Given the description of an element on the screen output the (x, y) to click on. 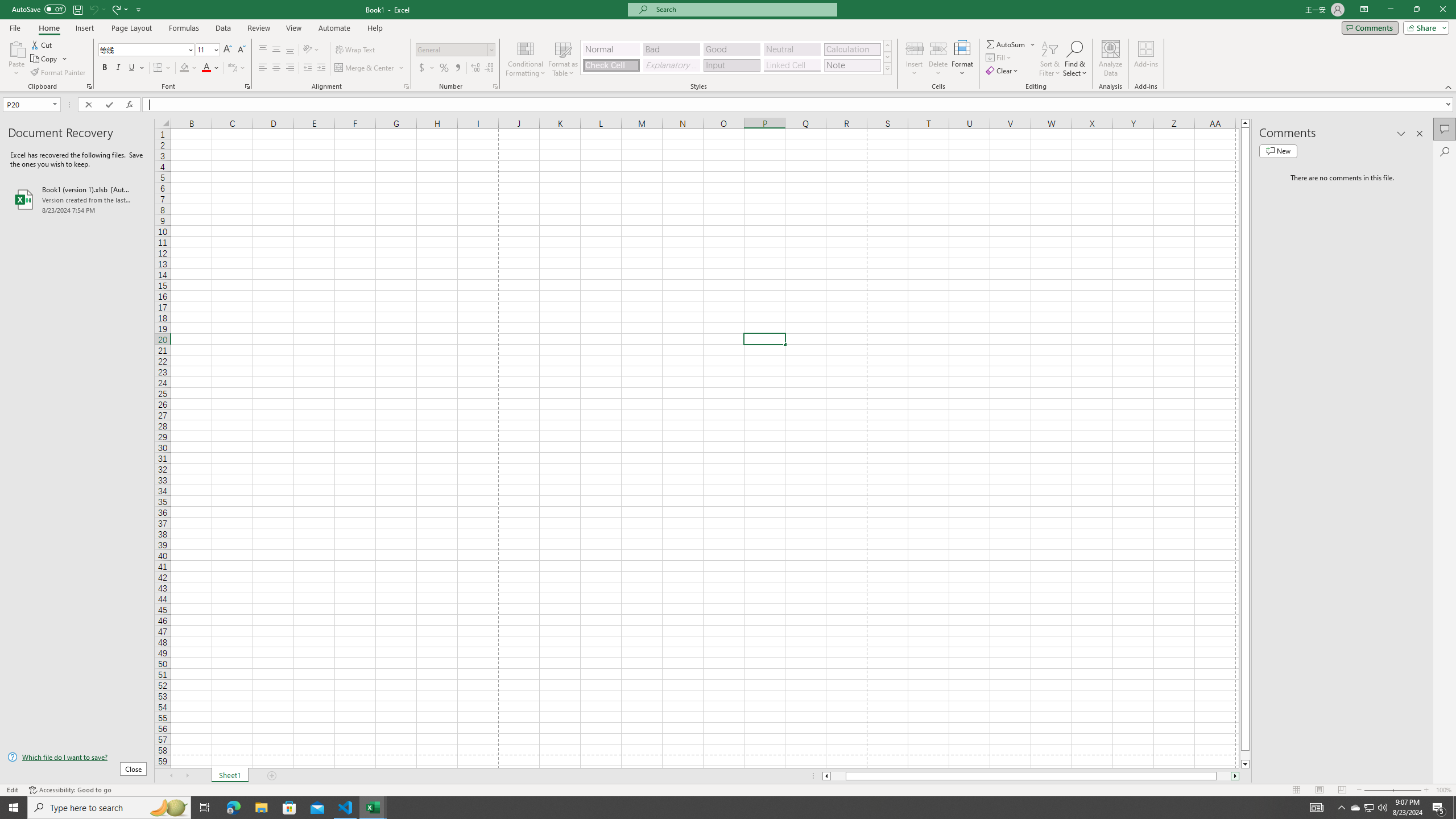
Align Left (262, 67)
Format as Table (563, 58)
Delete (938, 58)
Bad (671, 49)
Check Cell (611, 65)
